Given the description of an element on the screen output the (x, y) to click on. 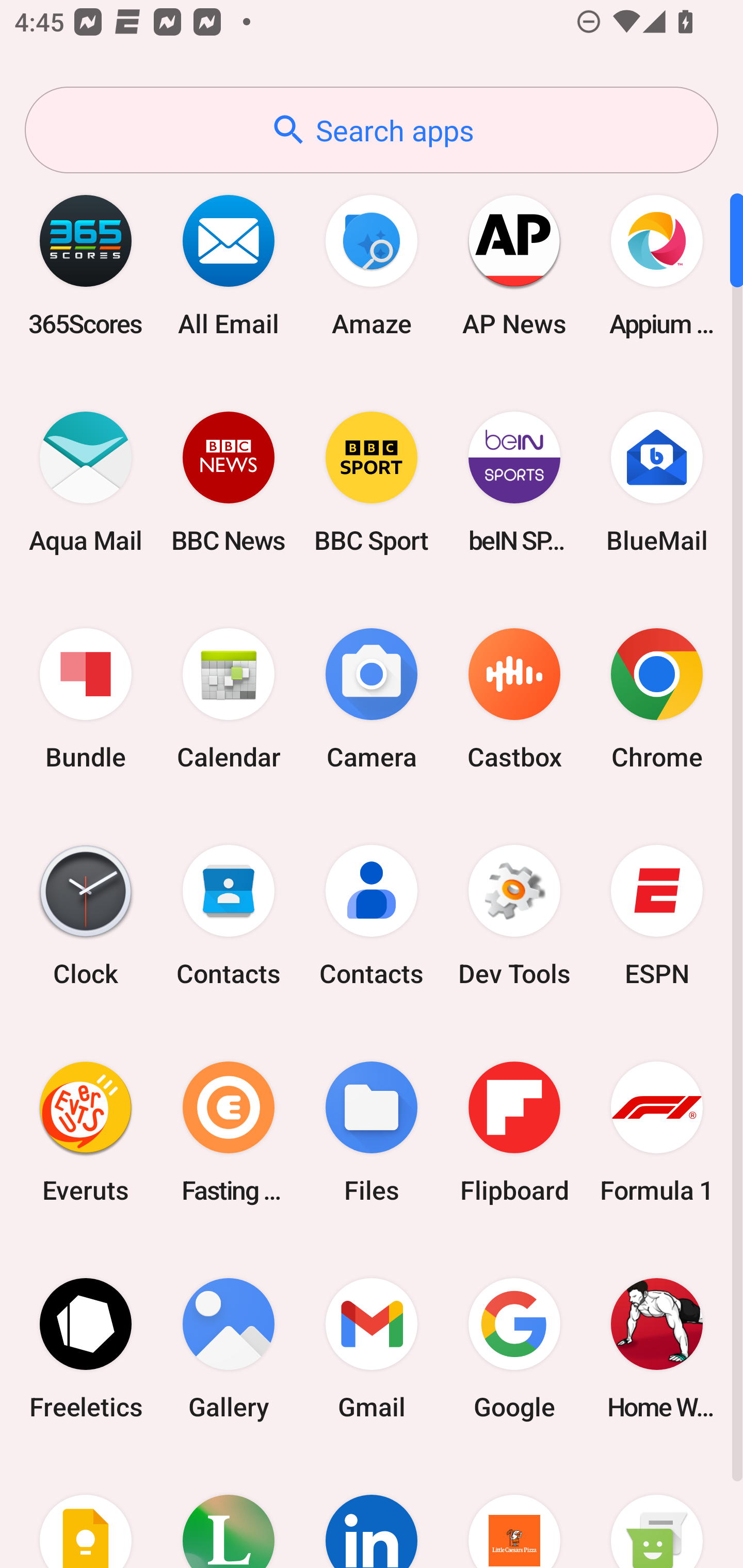
  Search apps (371, 130)
365Scores (85, 264)
All Email (228, 264)
Amaze (371, 264)
AP News (514, 264)
Appium Settings (656, 264)
Aqua Mail (85, 482)
BBC News (228, 482)
BBC Sport (371, 482)
beIN SPORTS (514, 482)
BlueMail (656, 482)
Bundle (85, 699)
Calendar (228, 699)
Camera (371, 699)
Castbox (514, 699)
Chrome (656, 699)
Clock (85, 915)
Contacts (228, 915)
Contacts (371, 915)
Dev Tools (514, 915)
ESPN (656, 915)
Everuts (85, 1131)
Fasting Coach (228, 1131)
Files (371, 1131)
Flipboard (514, 1131)
Formula 1 (656, 1131)
Freeletics (85, 1348)
Gallery (228, 1348)
Gmail (371, 1348)
Google (514, 1348)
Home Workout (656, 1348)
Keep Notes (85, 1512)
Lifesum (228, 1512)
LinkedIn (371, 1512)
Little Caesars Pizza (514, 1512)
Messaging (656, 1512)
